Given the description of an element on the screen output the (x, y) to click on. 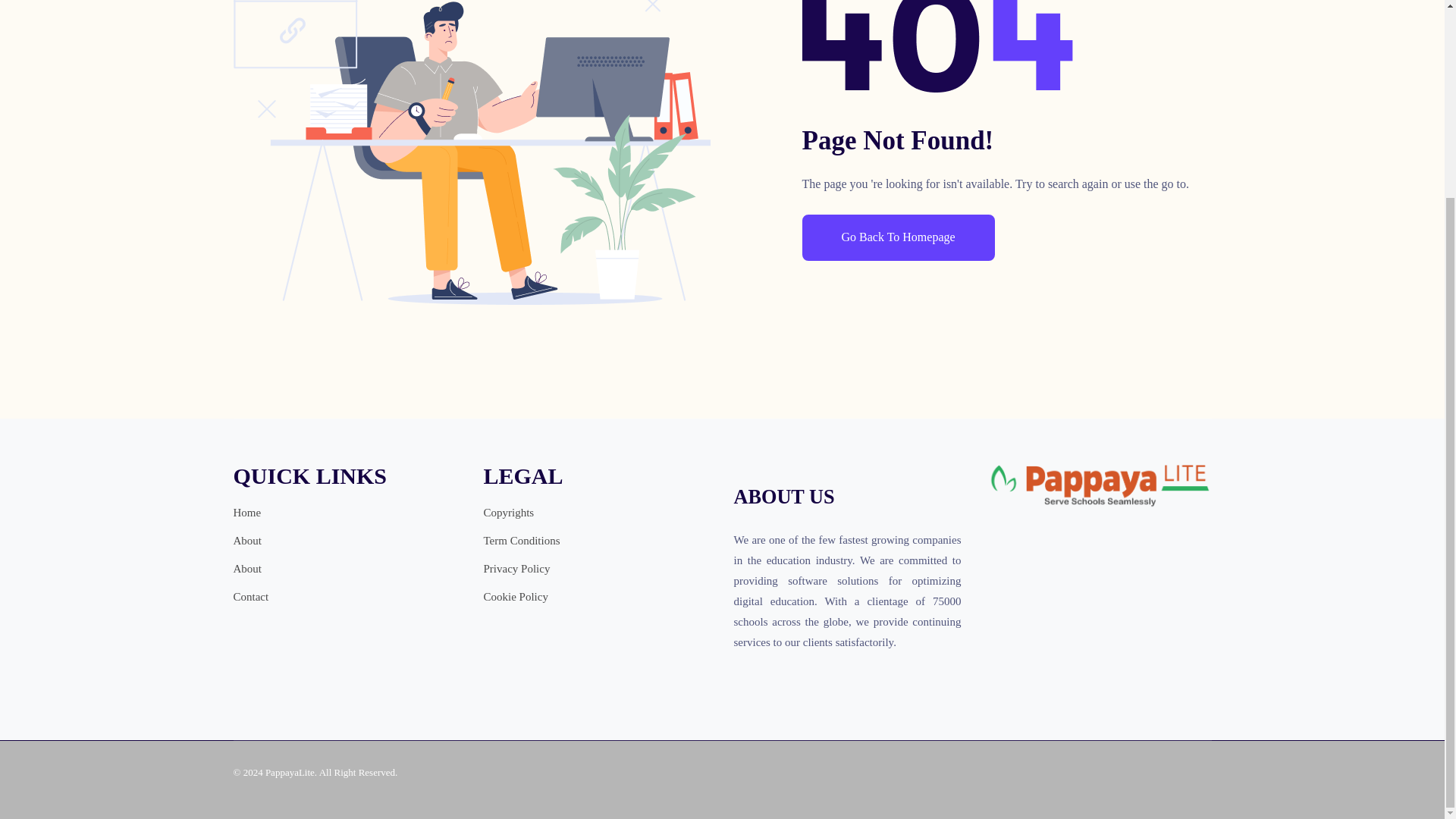
Term Conditions (521, 540)
Go Back To Homepage (898, 237)
About (247, 540)
Cookie Policy (515, 597)
Privacy Policy (516, 568)
Copyrights (508, 512)
Contact (250, 597)
Home (247, 512)
About (247, 568)
